Given the description of an element on the screen output the (x, y) to click on. 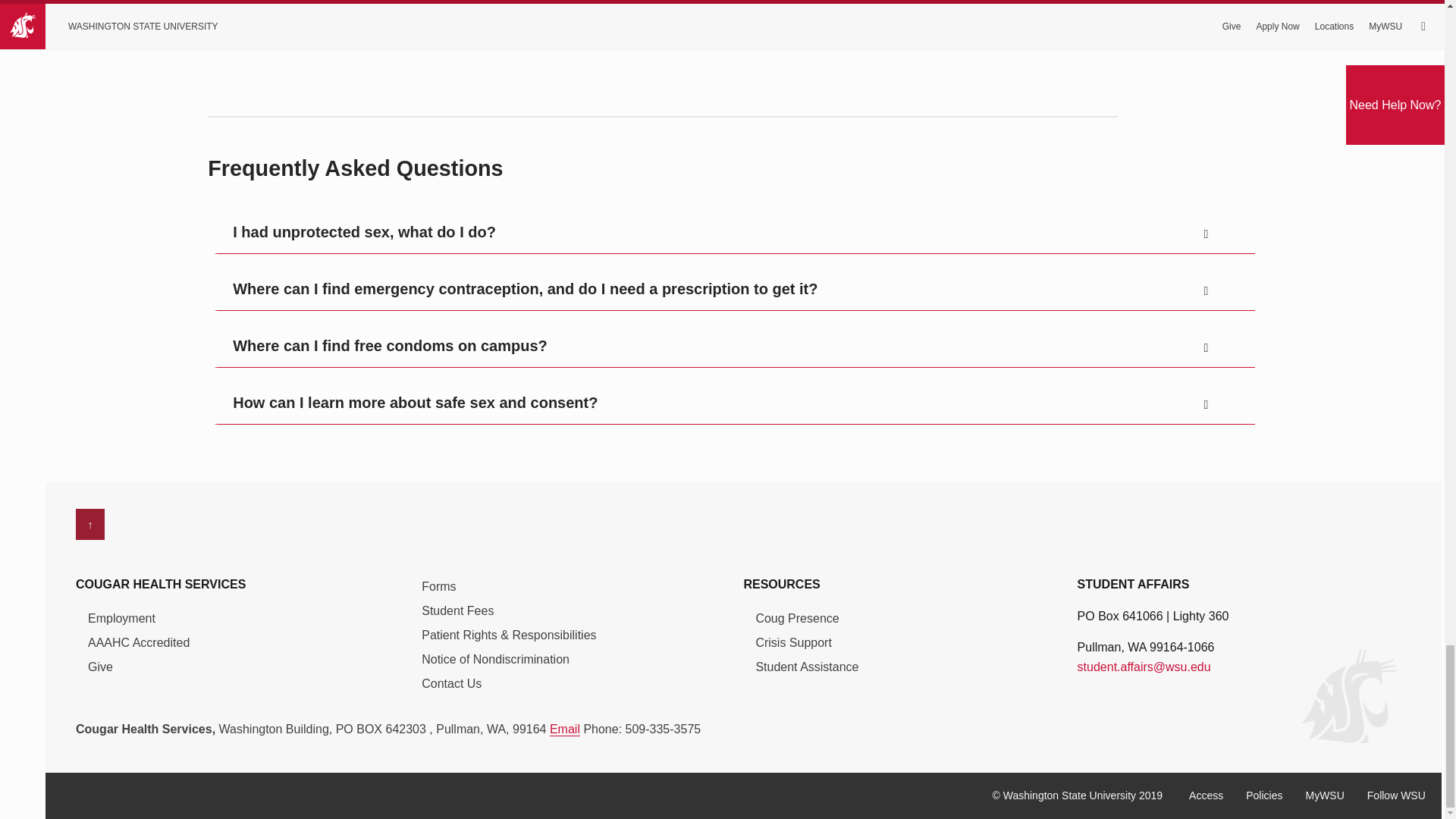
AAAHC Accreditation (138, 640)
Rights and Responsibilities (508, 632)
Contact Us (451, 681)
WSU Notice of Nondiscrimination (495, 657)
WSU Coug Presence (796, 616)
Forms (438, 584)
Student Care (807, 664)
Crisis Support (793, 640)
Join Our Team (121, 616)
Give (100, 664)
Student Health Fee (457, 608)
